Given the description of an element on the screen output the (x, y) to click on. 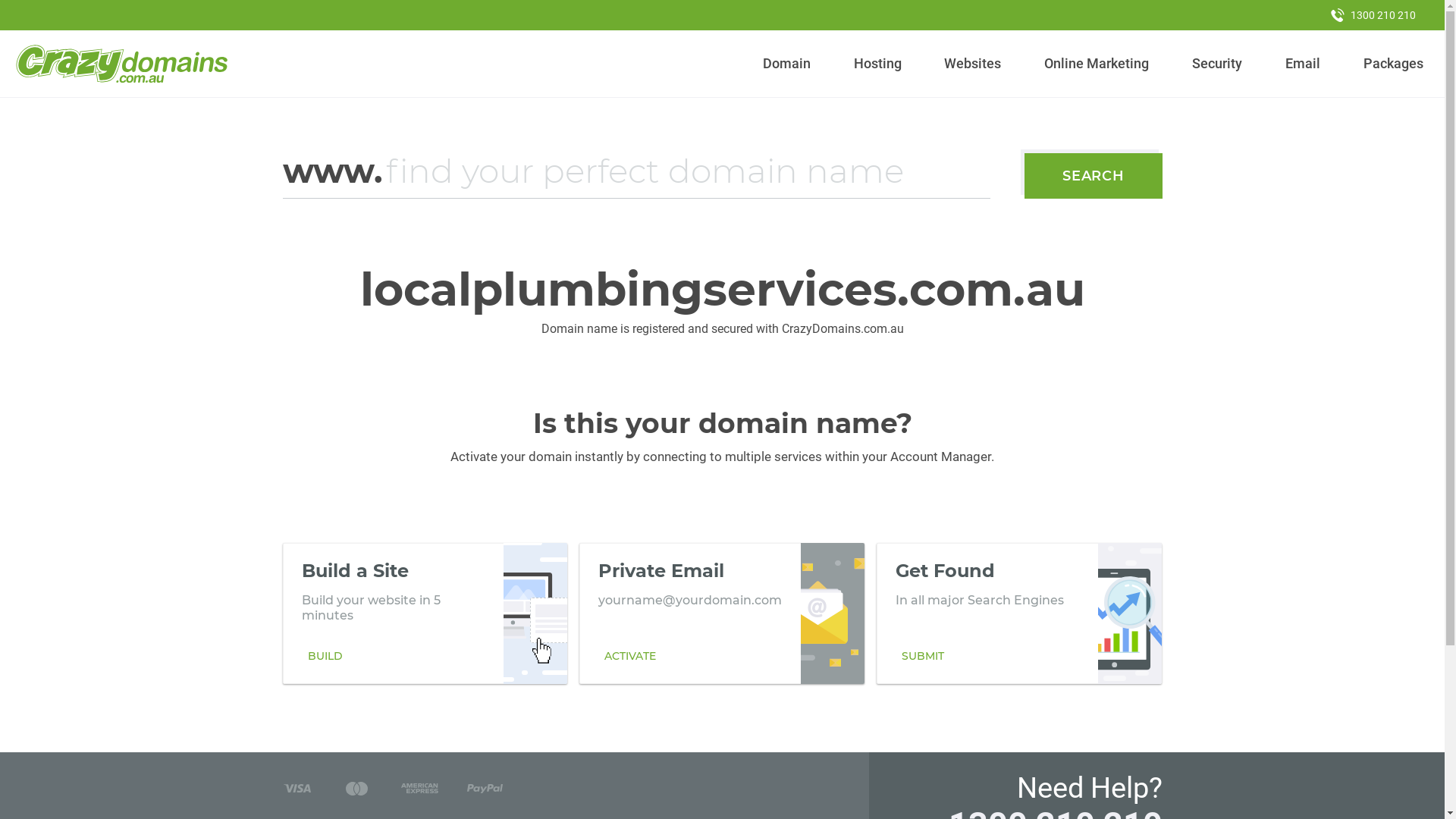
Packages Element type: text (1392, 63)
Hosting Element type: text (877, 63)
1300 210 210 Element type: text (1373, 15)
Private Email
yourname@yourdomain.com
ACTIVATE Element type: text (721, 613)
Domain Element type: text (786, 63)
Email Element type: text (1302, 63)
Online Marketing Element type: text (1096, 63)
Build a Site
Build your website in 5 minutes
BUILD Element type: text (424, 613)
SEARCH Element type: text (1092, 175)
Websites Element type: text (972, 63)
Get Found
In all major Search Engines
SUBMIT Element type: text (1018, 613)
Security Element type: text (1217, 63)
